Given the description of an element on the screen output the (x, y) to click on. 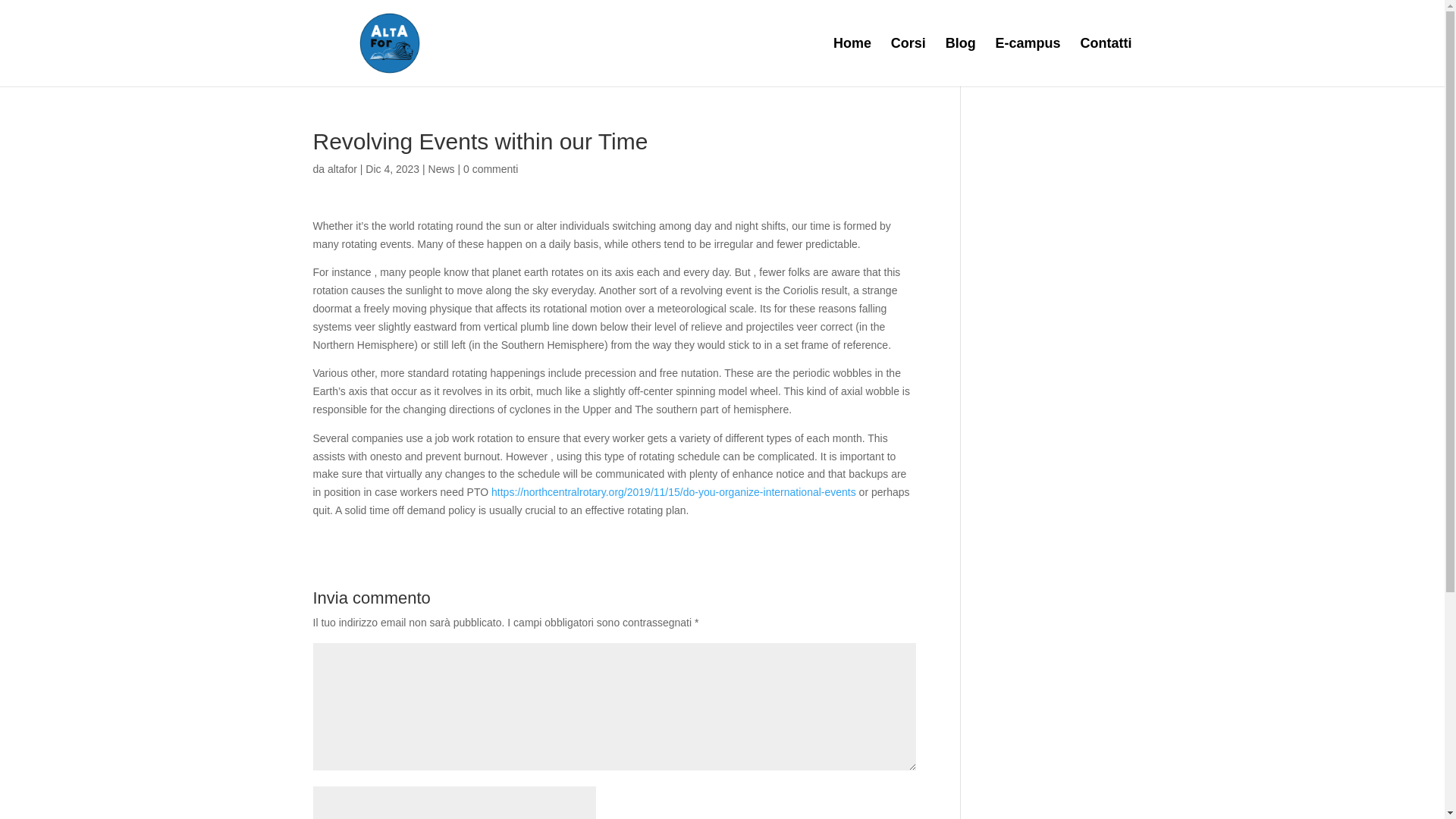
E-campus (1028, 61)
News (441, 168)
altafor (341, 168)
0 commenti (490, 168)
Post di altafor (341, 168)
Contatti (1106, 61)
